Given the description of an element on the screen output the (x, y) to click on. 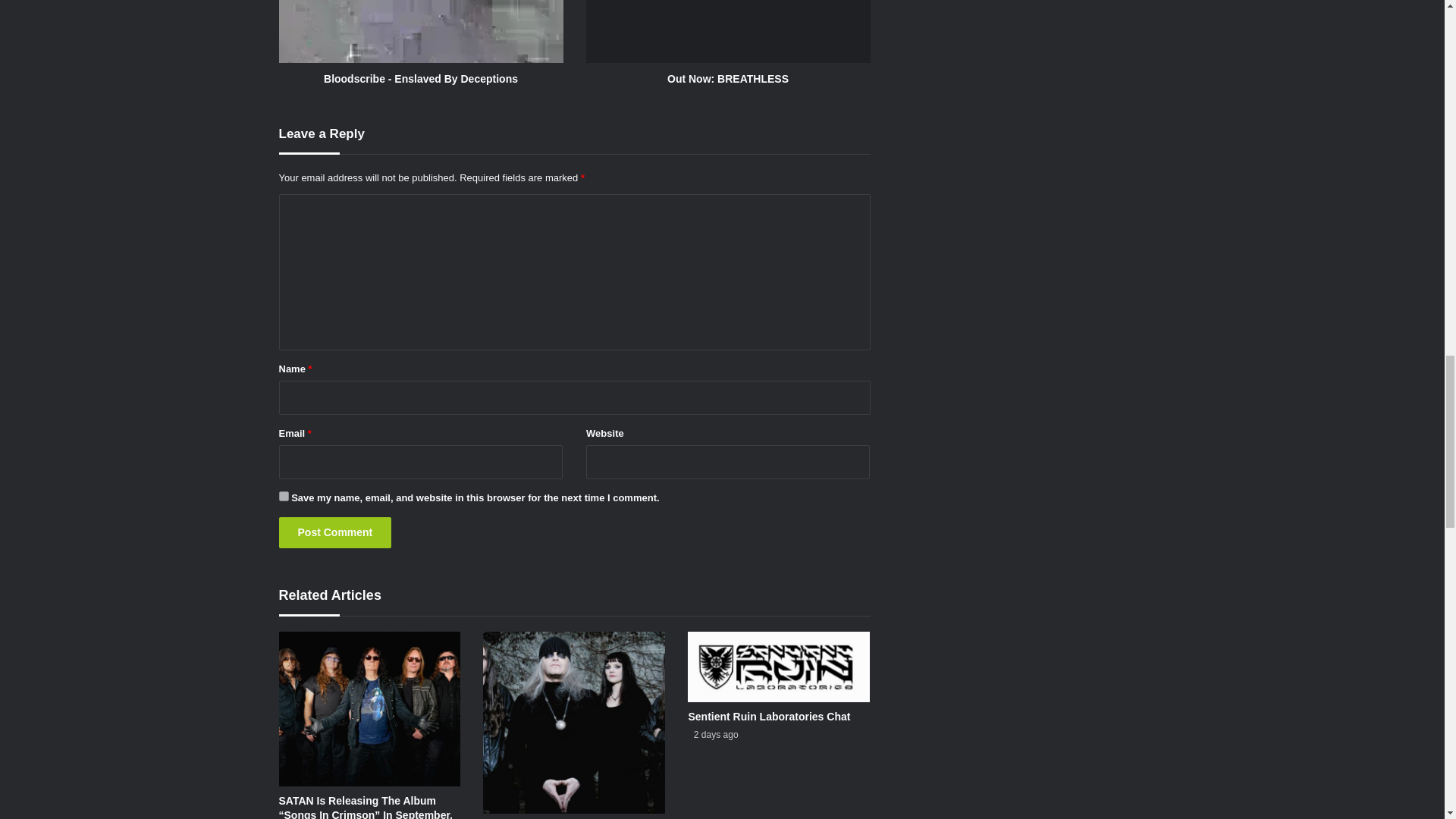
Post Comment (335, 531)
yes (283, 496)
